Given the description of an element on the screen output the (x, y) to click on. 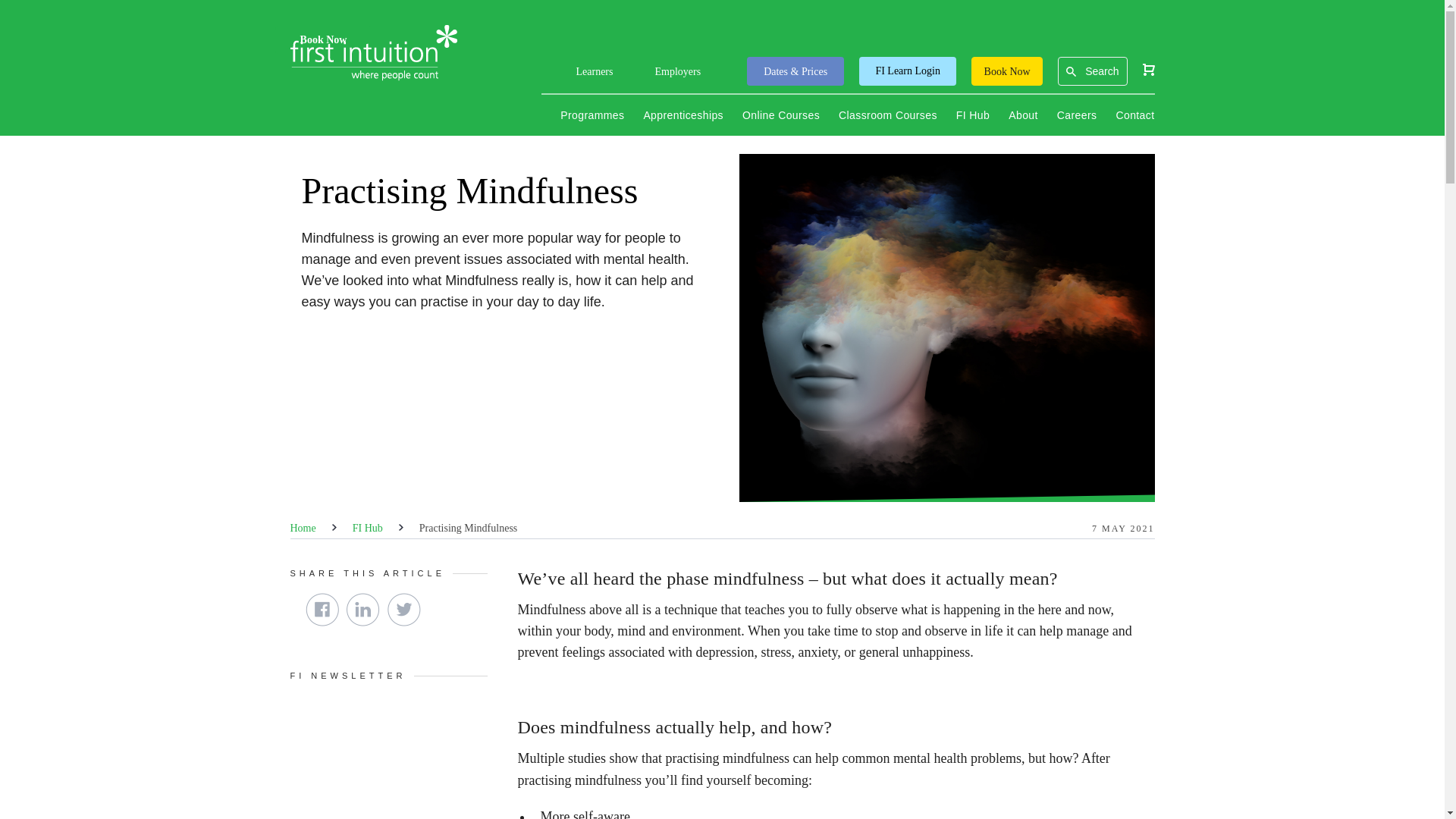
Book Now (1006, 70)
Book Now (1006, 70)
Careers (1077, 115)
Learners (594, 75)
Employers (676, 75)
Apprenticeships (683, 115)
First Intuition (373, 53)
First Intuition (373, 53)
Home (302, 527)
Search (1101, 71)
